Given the description of an element on the screen output the (x, y) to click on. 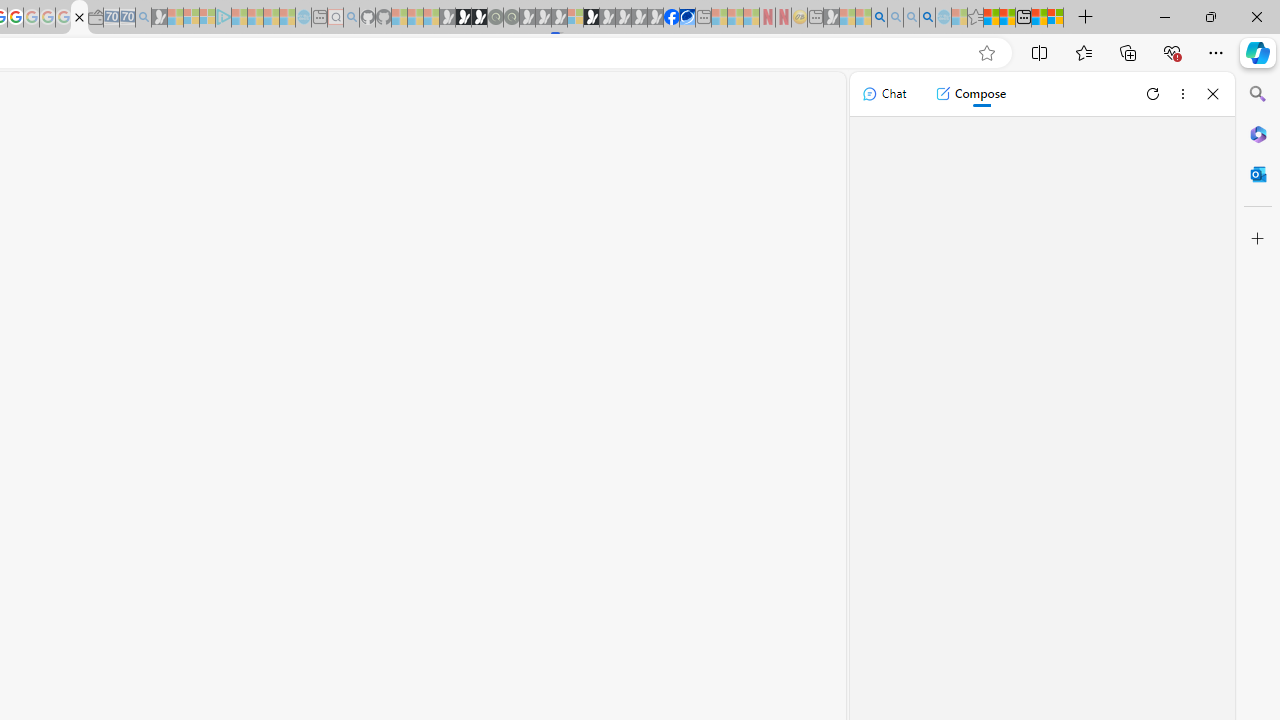
Sign in to your account - Sleeping (575, 17)
MSN - Sleeping (831, 17)
Google Chrome Internet Browser Download - Search Images (927, 17)
Nordace | Facebook (671, 17)
